Given the description of an element on the screen output the (x, y) to click on. 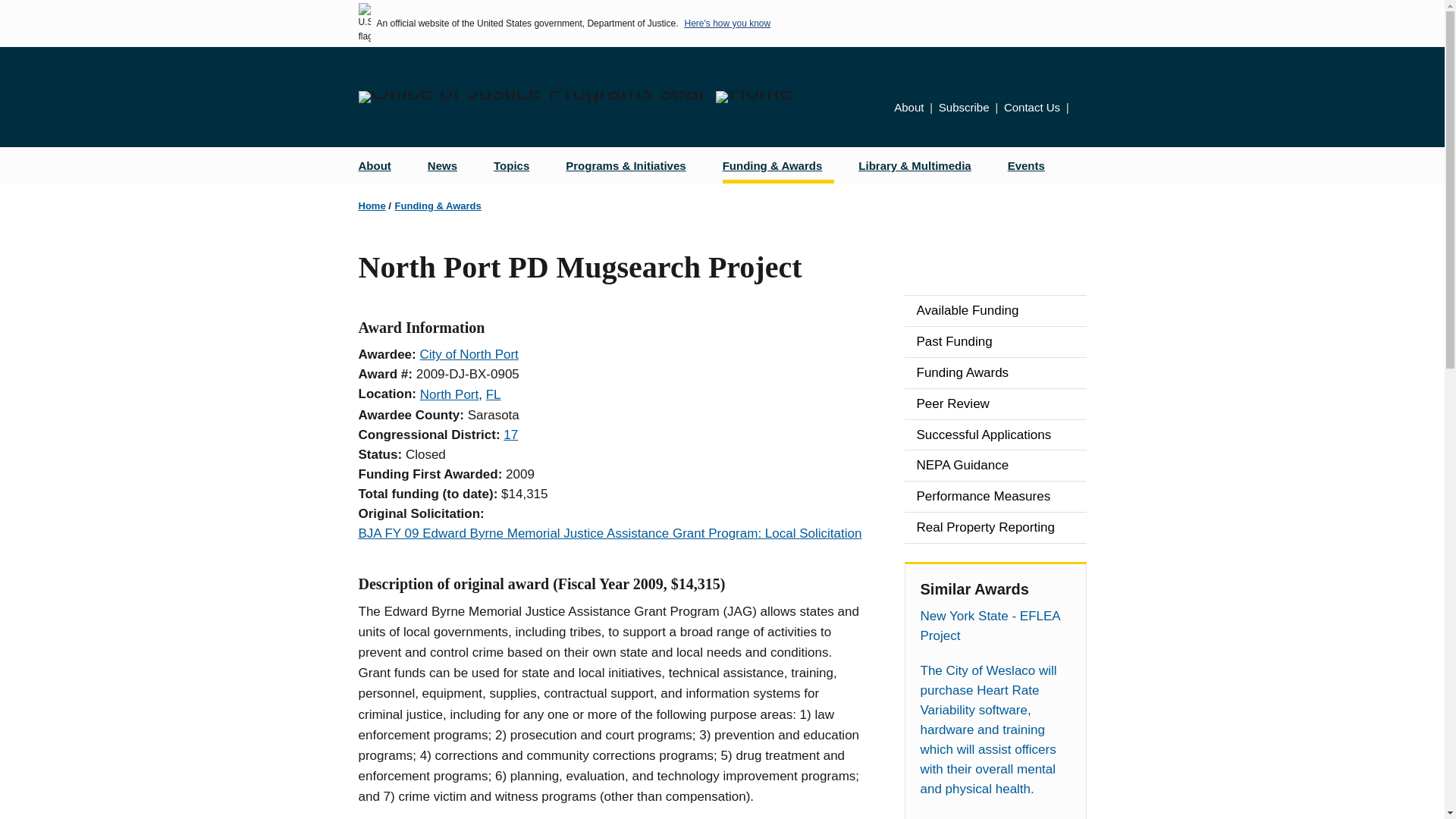
Home (754, 96)
New York State - EFLEA Project (995, 626)
North Port (449, 394)
Real Property Reporting (995, 527)
17 (510, 434)
FL (493, 394)
NEPA Guidance (995, 465)
Here's how you know (727, 23)
About (380, 165)
News (447, 165)
Choose a social sharing platform (1080, 108)
Home (371, 205)
Office of Justice Programs (530, 96)
Topics (517, 165)
